Given the description of an element on the screen output the (x, y) to click on. 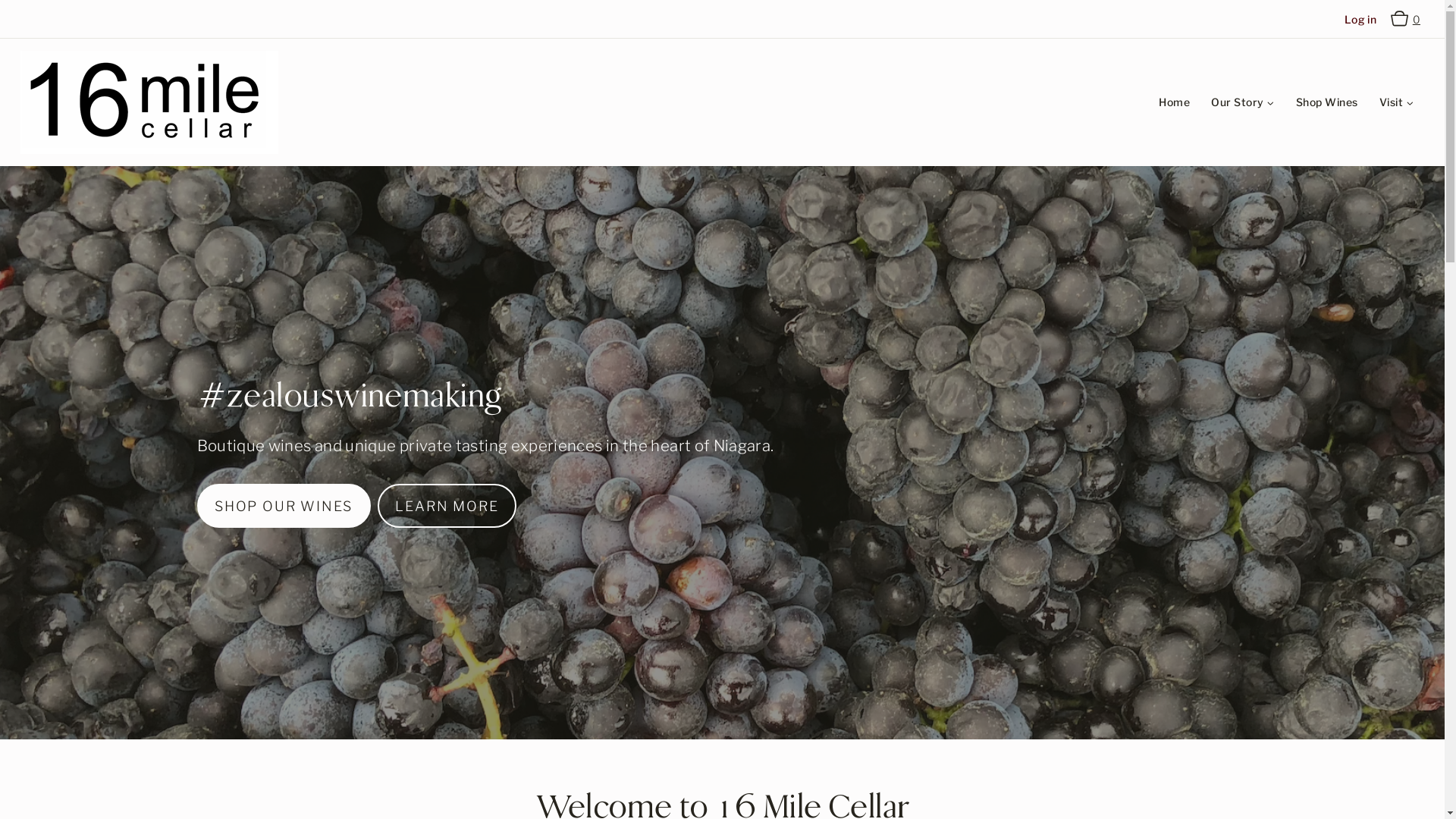
Log in Element type: text (1360, 19)
Shop Wines Element type: text (1326, 102)
Visit Element type: text (1396, 102)
Our Story Element type: text (1242, 102)
LEARN MORE Element type: text (446, 505)
SHOP OUR WINES Element type: text (283, 505)
Home Element type: text (1174, 102)
Cart
0 Element type: text (1407, 18)
